Given the description of an element on the screen output the (x, y) to click on. 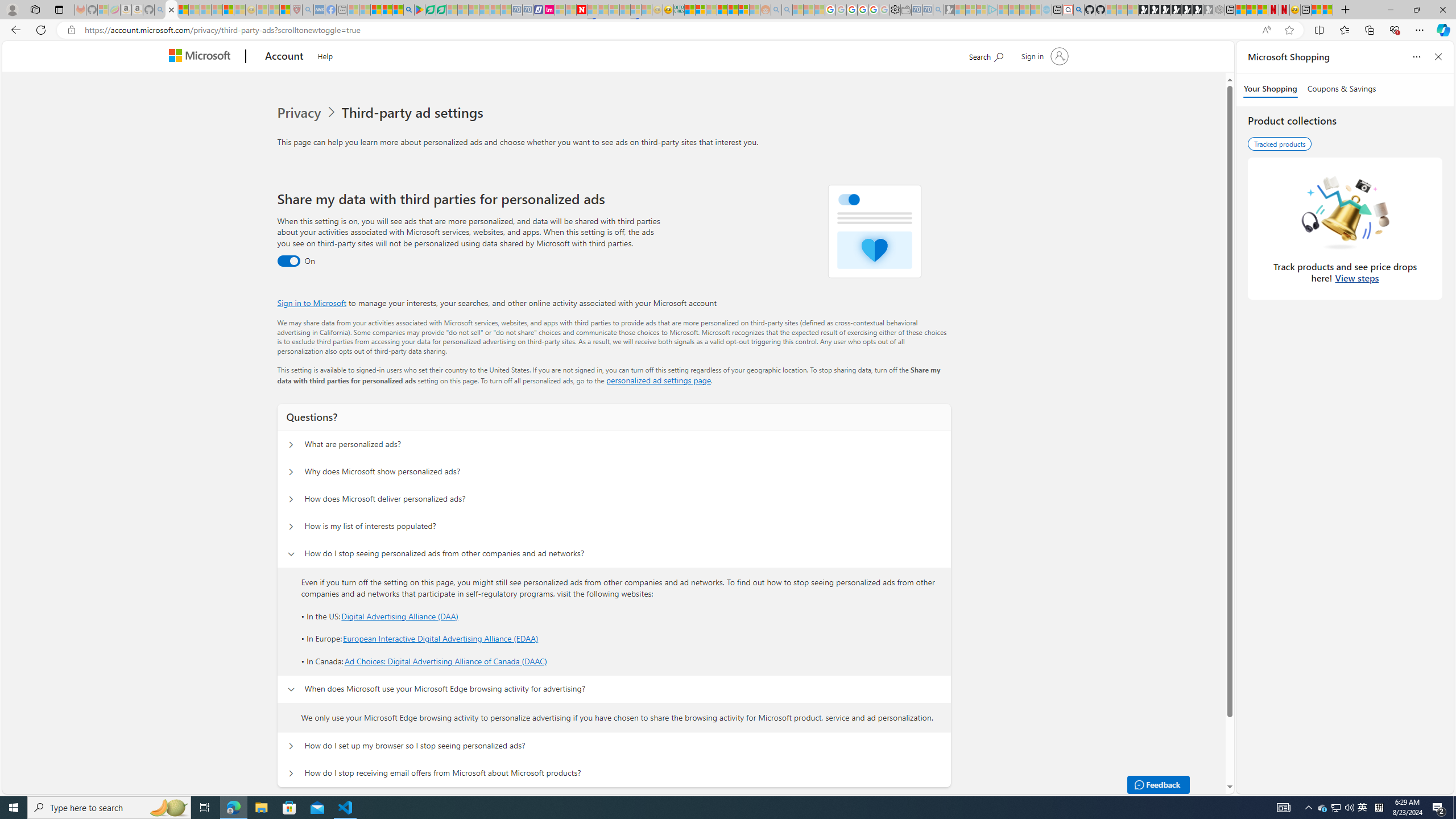
Third-party ad settings (414, 112)
